Given the description of an element on the screen output the (x, y) to click on. 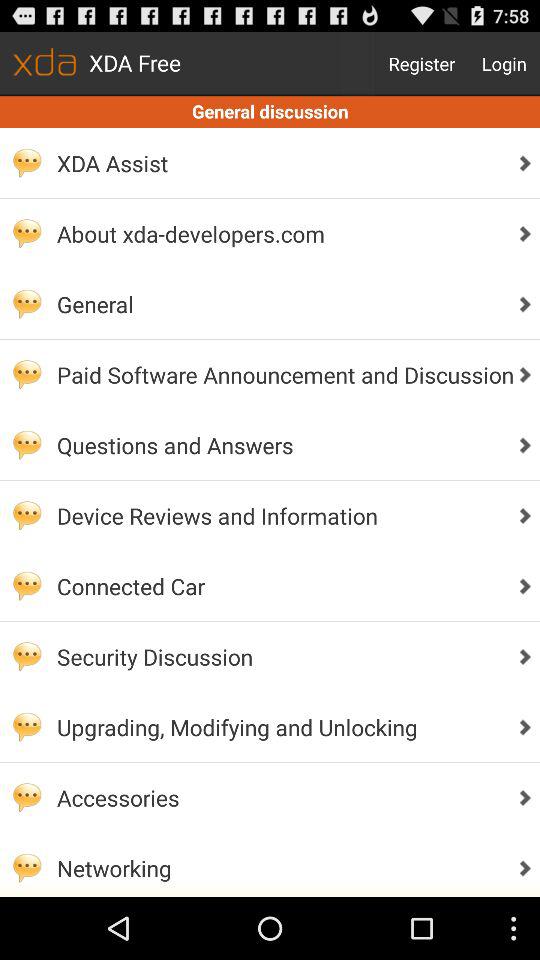
tap app above the general discussion app (421, 63)
